Given the description of an element on the screen output the (x, y) to click on. 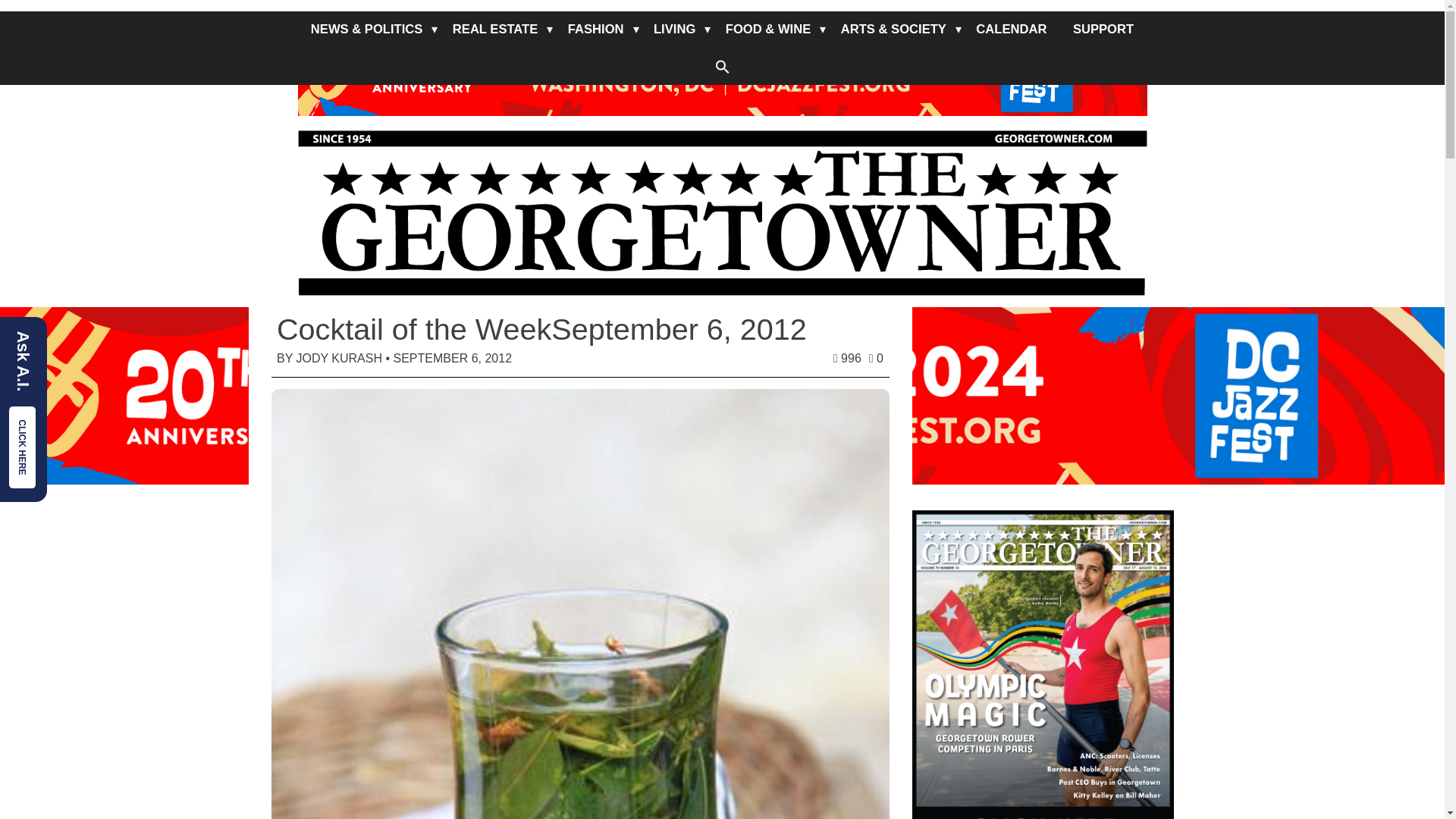
REAL ESTATE (494, 29)
SUPPORT (1102, 29)
LIVING (674, 29)
FASHION (595, 29)
20th Anniversary DC Jazz 2024 (722, 58)
Posts by Jody Kurash (338, 358)
CALENDAR (1010, 29)
